Given the description of an element on the screen output the (x, y) to click on. 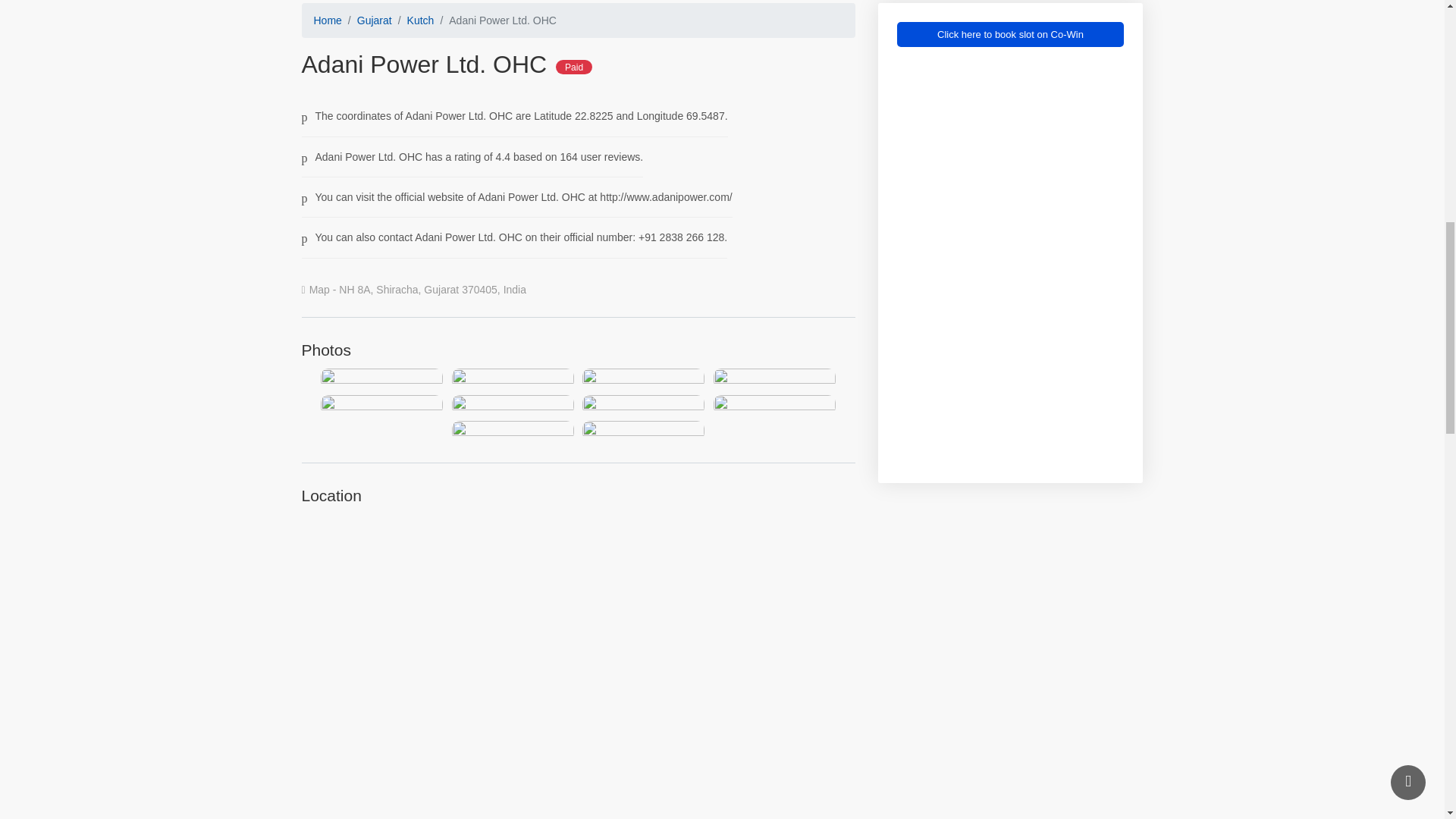
Home (328, 20)
Gujarat (373, 20)
Kutch (420, 20)
Map - NH 8A, Shiracha, Gujarat 370405, India (414, 289)
